Given the description of an element on the screen output the (x, y) to click on. 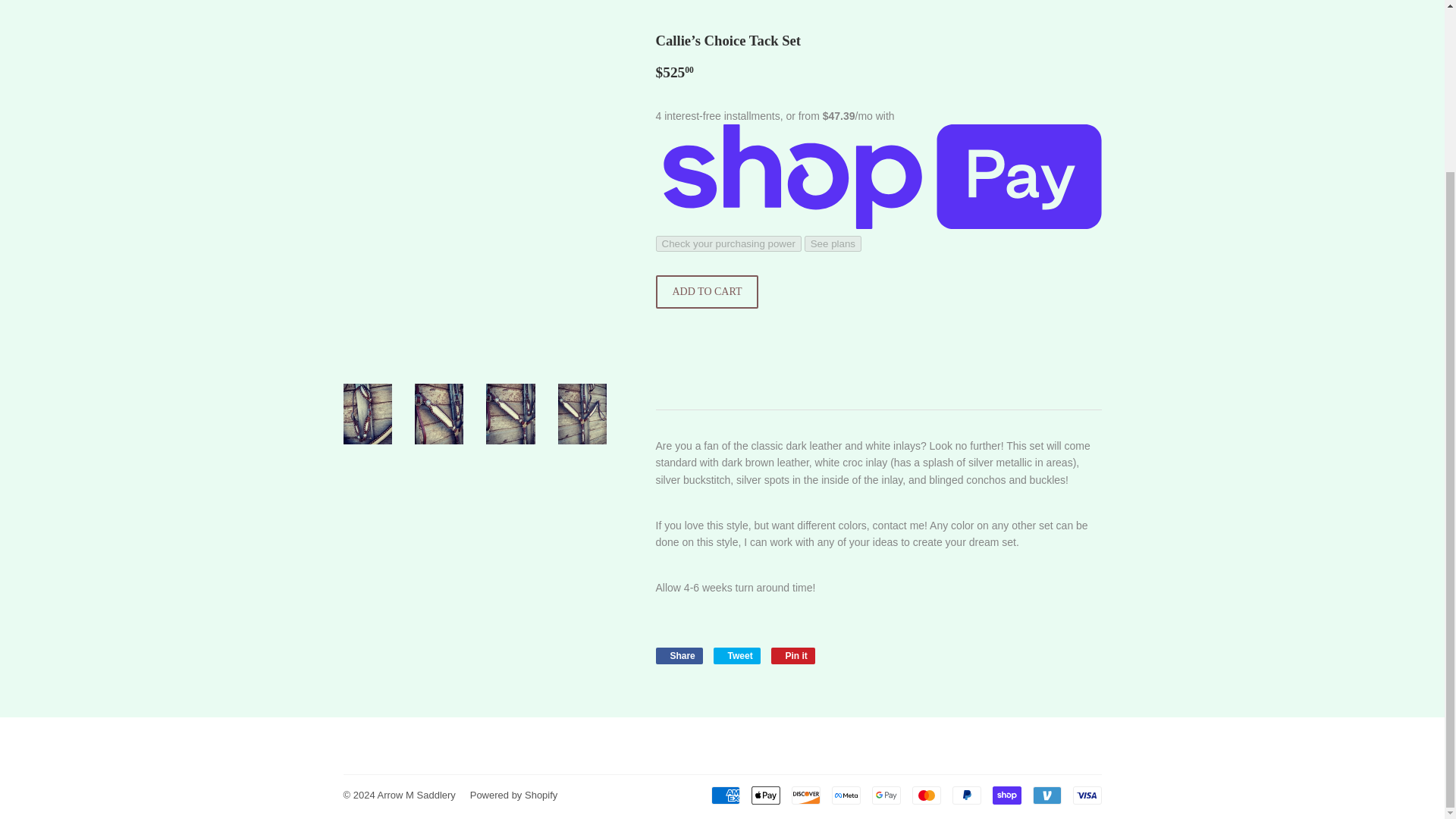
Visa (1085, 795)
Shop Pay (1005, 795)
Apple Pay (793, 655)
American Express (764, 795)
ADD TO CART (725, 795)
Mastercard (706, 291)
Share on Facebook (925, 795)
Tweet on Twitter (678, 655)
Arrow M Saddlery (736, 655)
